Given the description of an element on the screen output the (x, y) to click on. 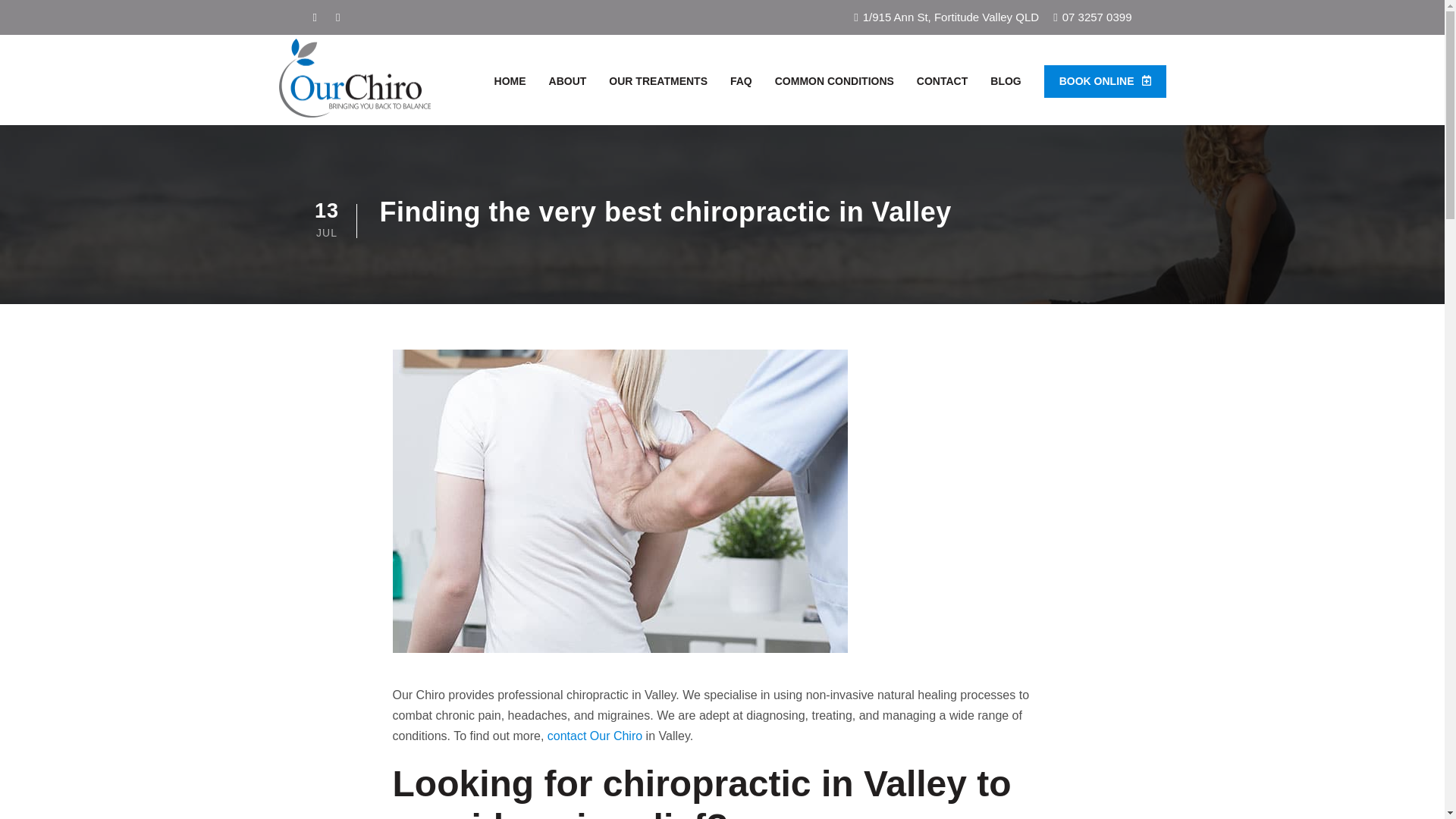
OUR TREATMENTS (657, 83)
CONTACT (942, 83)
FAQ (741, 83)
BLOG (1005, 83)
COMMON CONDITIONS (833, 83)
our-chiro-logo (354, 77)
07 3257 0399 (1097, 16)
Blog (1005, 83)
HOME (510, 83)
ABOUT (567, 83)
